Given the description of an element on the screen output the (x, y) to click on. 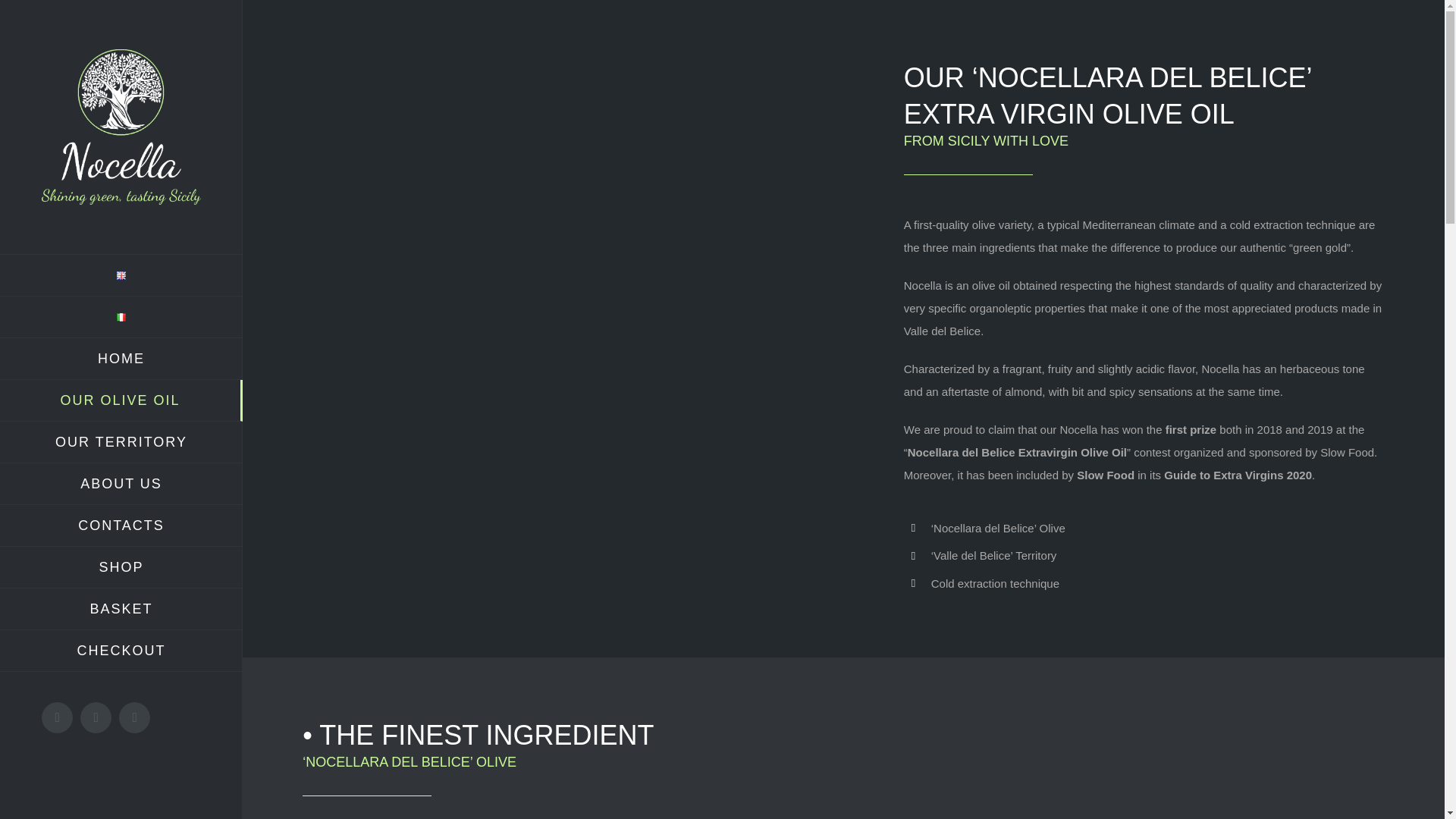
ABOUT US (121, 484)
Twitter (96, 717)
Facebook (57, 717)
Facebook (57, 717)
HOME (121, 359)
Instagram (134, 717)
OUR TERRITORY (121, 442)
CHECKOUT (121, 650)
Instagram (134, 717)
SHOP (121, 567)
